Given the description of an element on the screen output the (x, y) to click on. 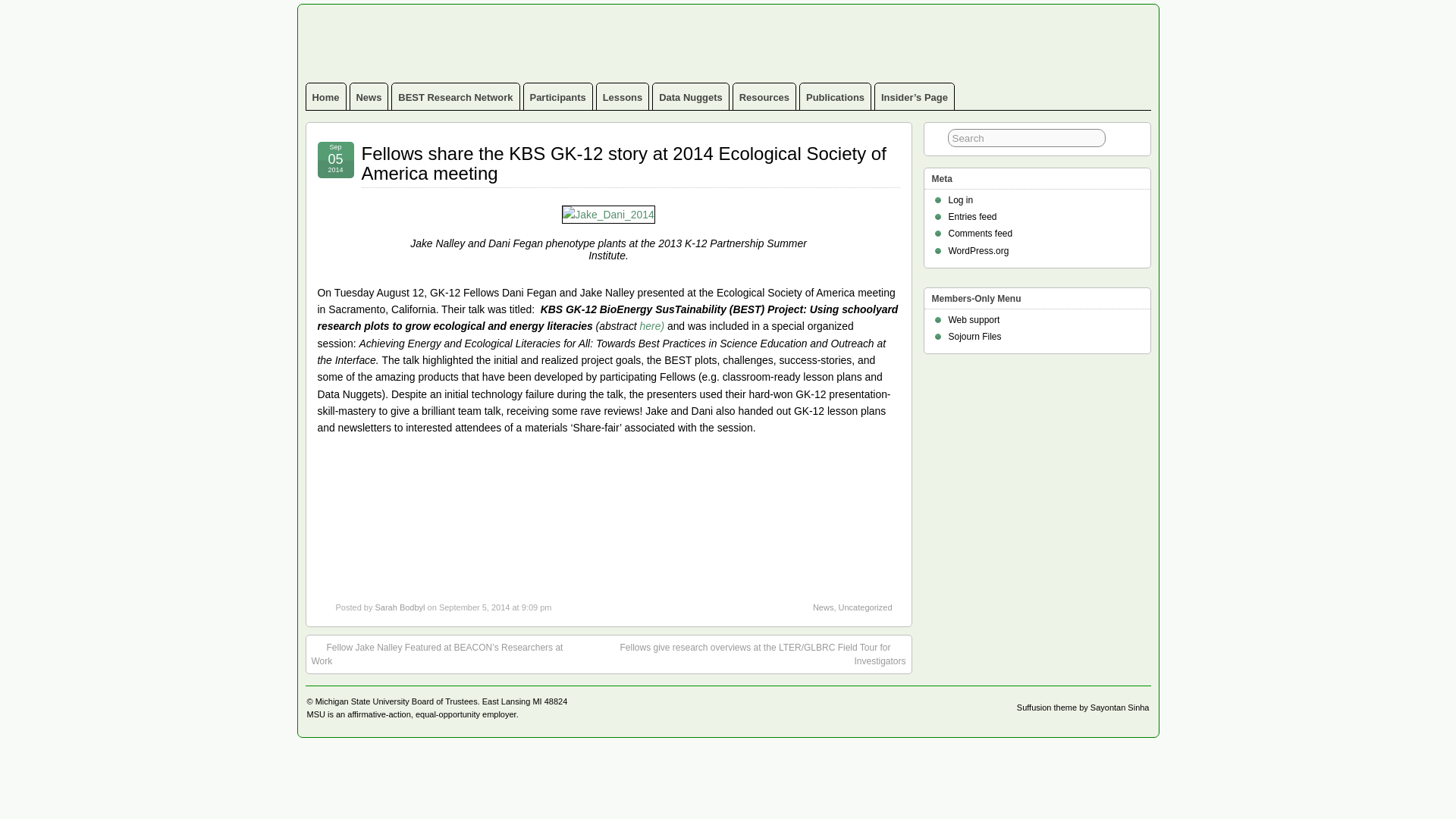
Entries feed (971, 216)
Lessons (622, 96)
Comments feed (979, 233)
Home (325, 96)
Sojourn Files (974, 336)
News (369, 96)
Search (1026, 137)
Participants (558, 96)
Search (1026, 137)
